Given the description of an element on the screen output the (x, y) to click on. 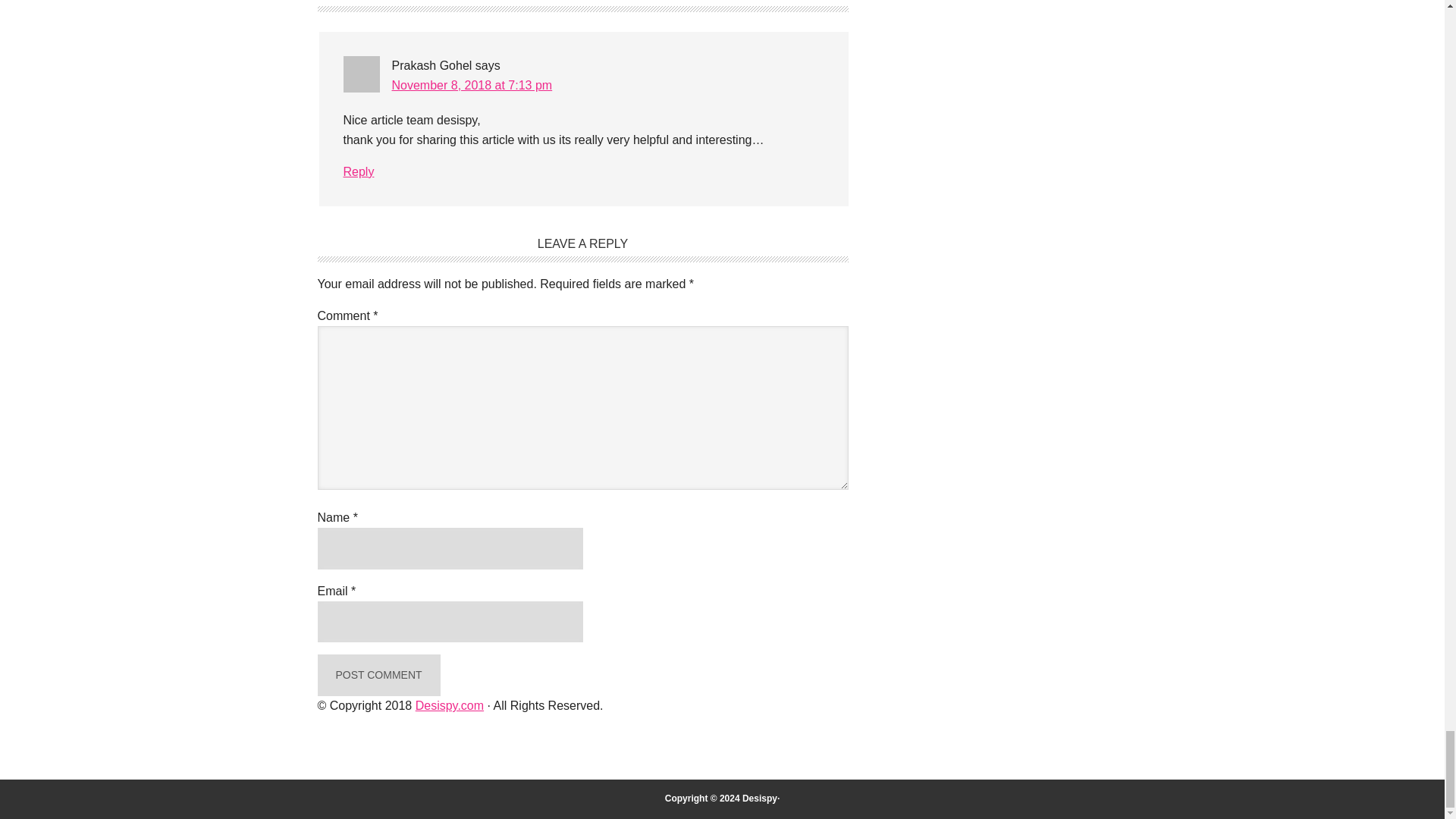
Reply (358, 171)
Post Comment (378, 675)
Post Comment (378, 675)
November 8, 2018 at 7:13 pm (471, 84)
